Given the description of an element on the screen output the (x, y) to click on. 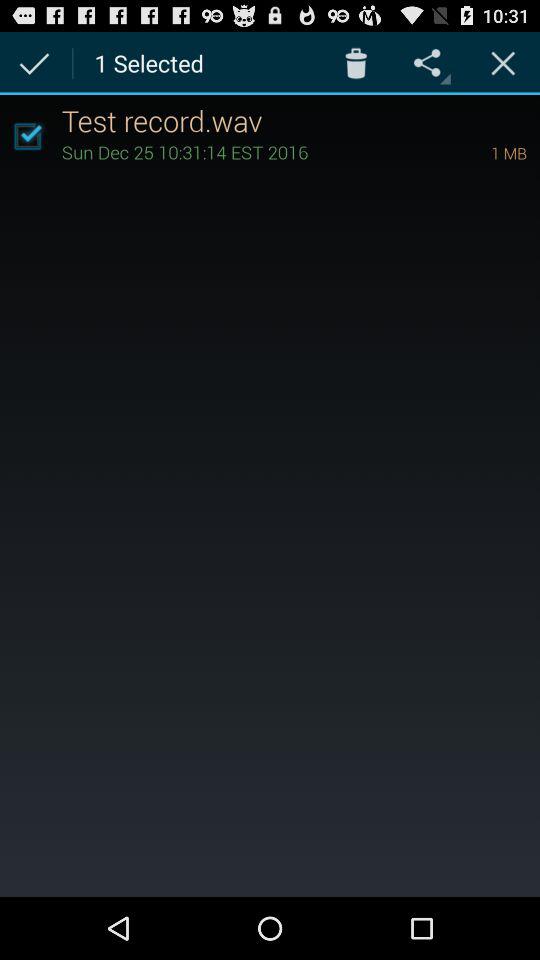
close (503, 62)
